Given the description of an element on the screen output the (x, y) to click on. 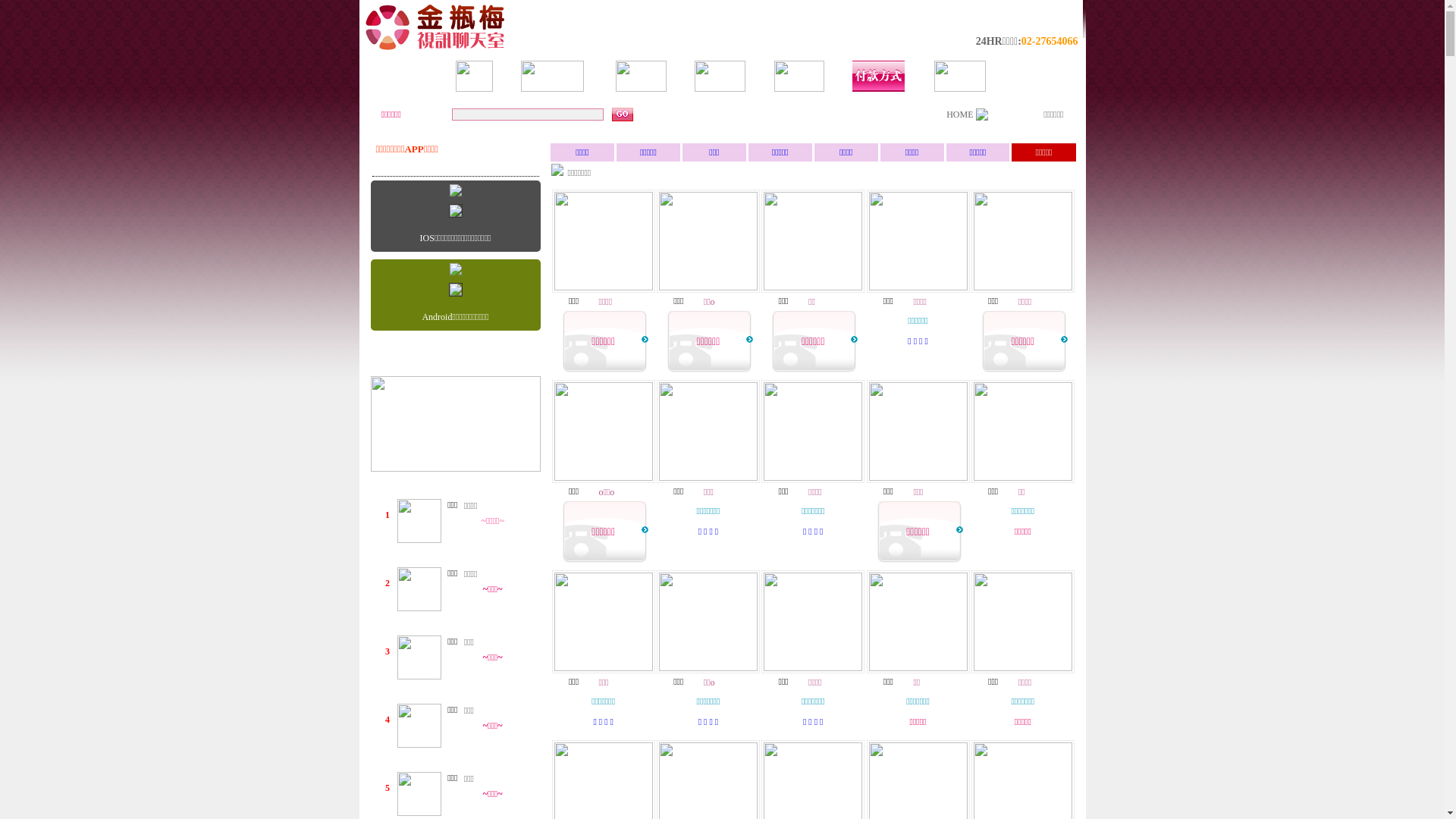
HOME Element type: text (959, 114)
